Given the description of an element on the screen output the (x, y) to click on. 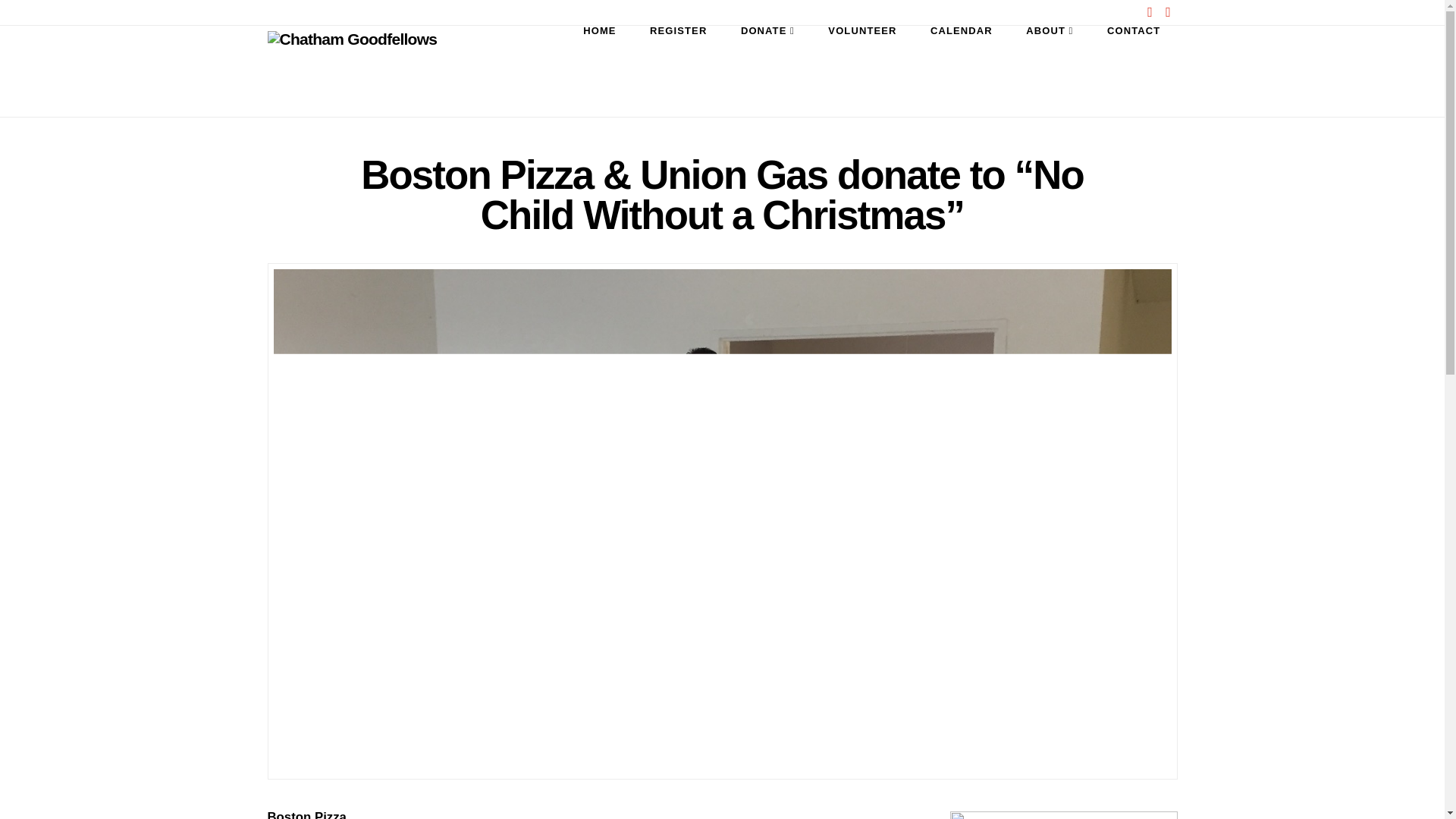
REGISTER (678, 71)
CONTACT (1133, 71)
ABOUT (1049, 71)
DONATE (766, 71)
VOLUNTEER (862, 71)
CALENDAR (961, 71)
